Given the description of an element on the screen output the (x, y) to click on. 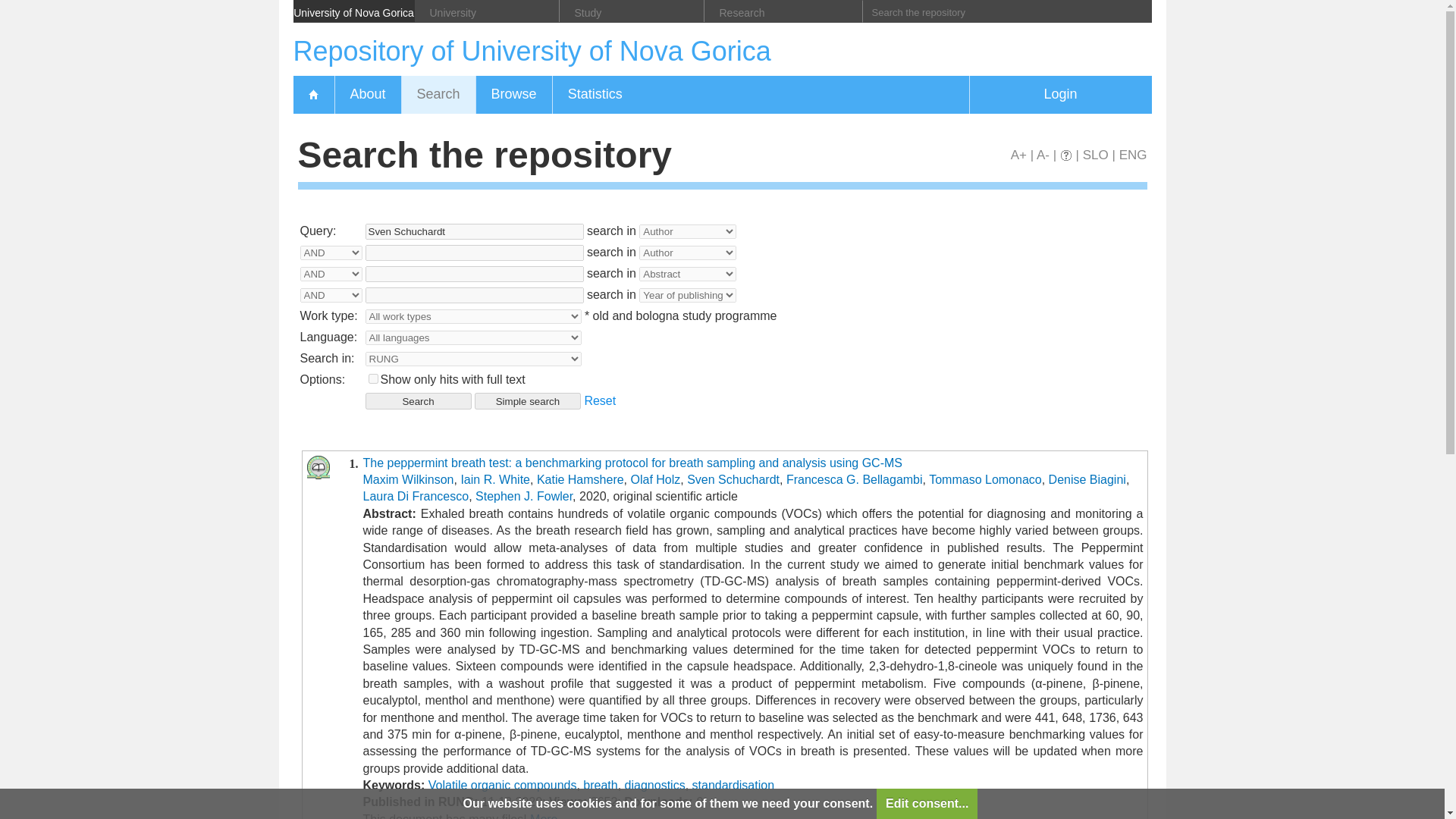
Sven Schuchardt (732, 479)
More... (548, 816)
breath (600, 784)
Katie Hamshere (580, 479)
diagnostics (654, 784)
Sven Schuchardt (474, 231)
Statistics (594, 94)
Help (1065, 155)
Study (631, 11)
Maxim Wilkinson (407, 479)
